Given the description of an element on the screen output the (x, y) to click on. 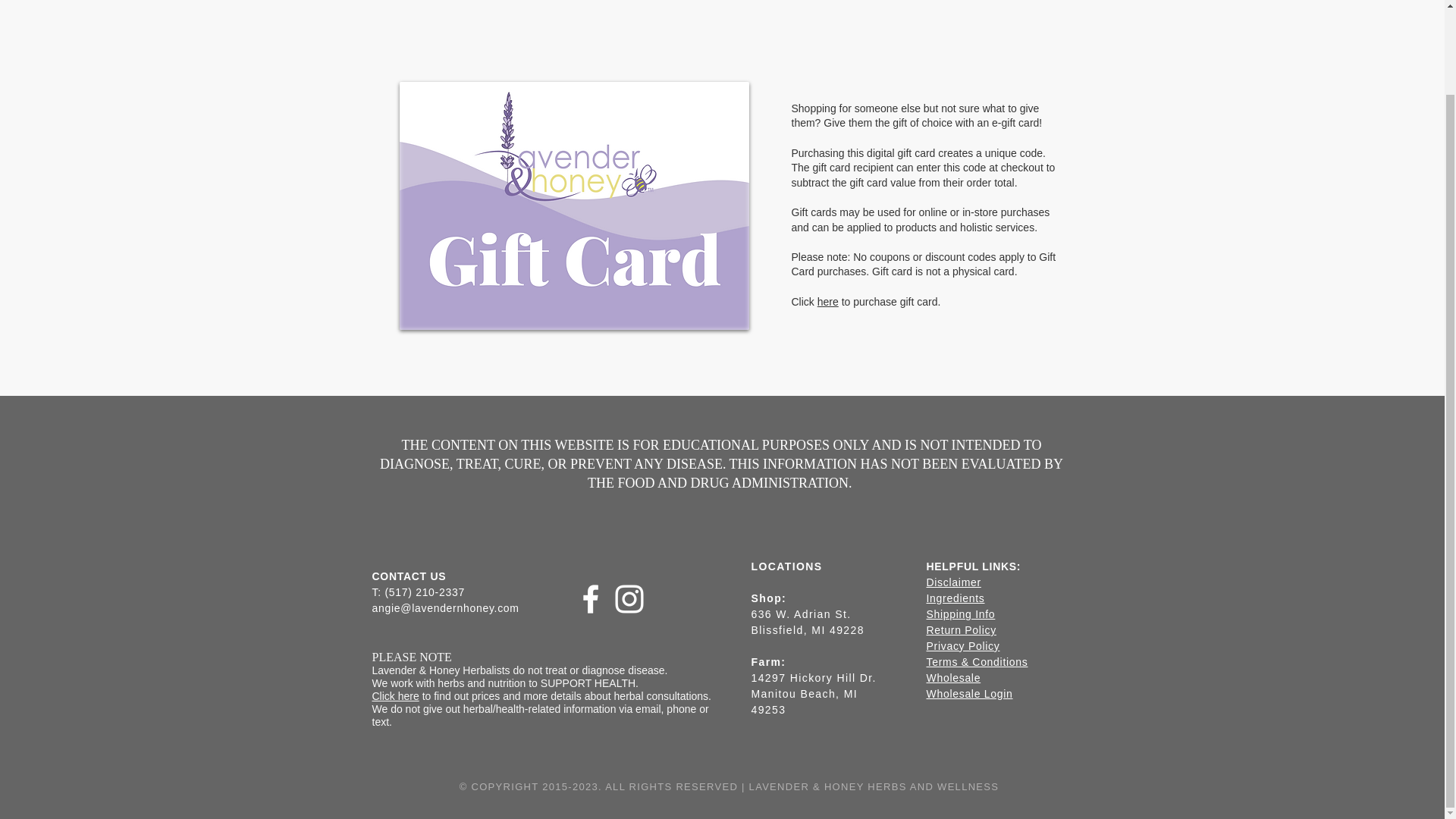
Shipping Info (960, 613)
here (827, 301)
Click here (395, 695)
Return Policy (960, 630)
Wholesale Login (969, 693)
Ingredients (955, 598)
Disclaimer (953, 582)
Privacy Policy (963, 645)
Wholesale (953, 677)
